Given the description of an element on the screen output the (x, y) to click on. 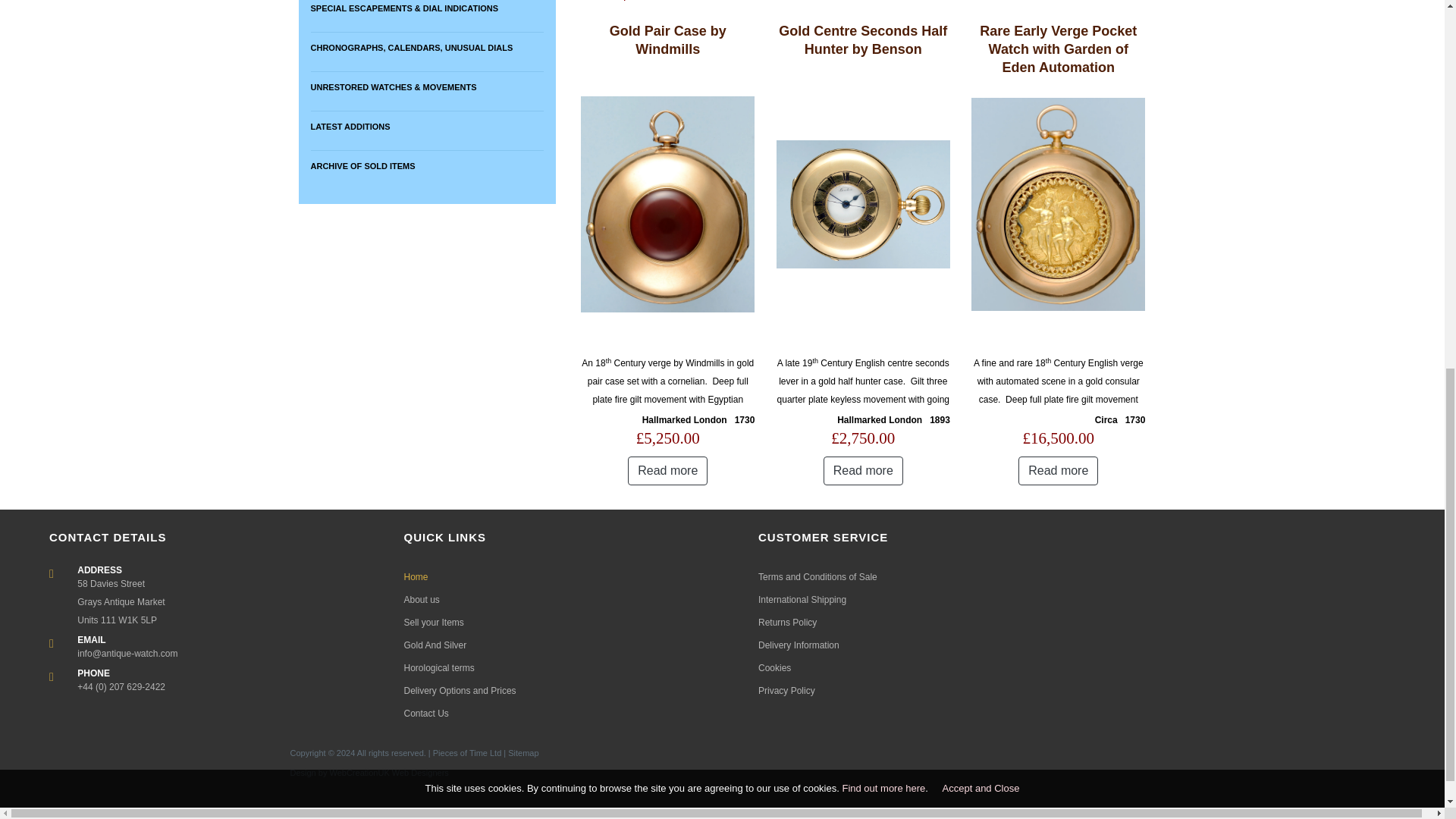
Read more (667, 470)
Read more (1057, 470)
Read more (863, 470)
